Given the description of an element on the screen output the (x, y) to click on. 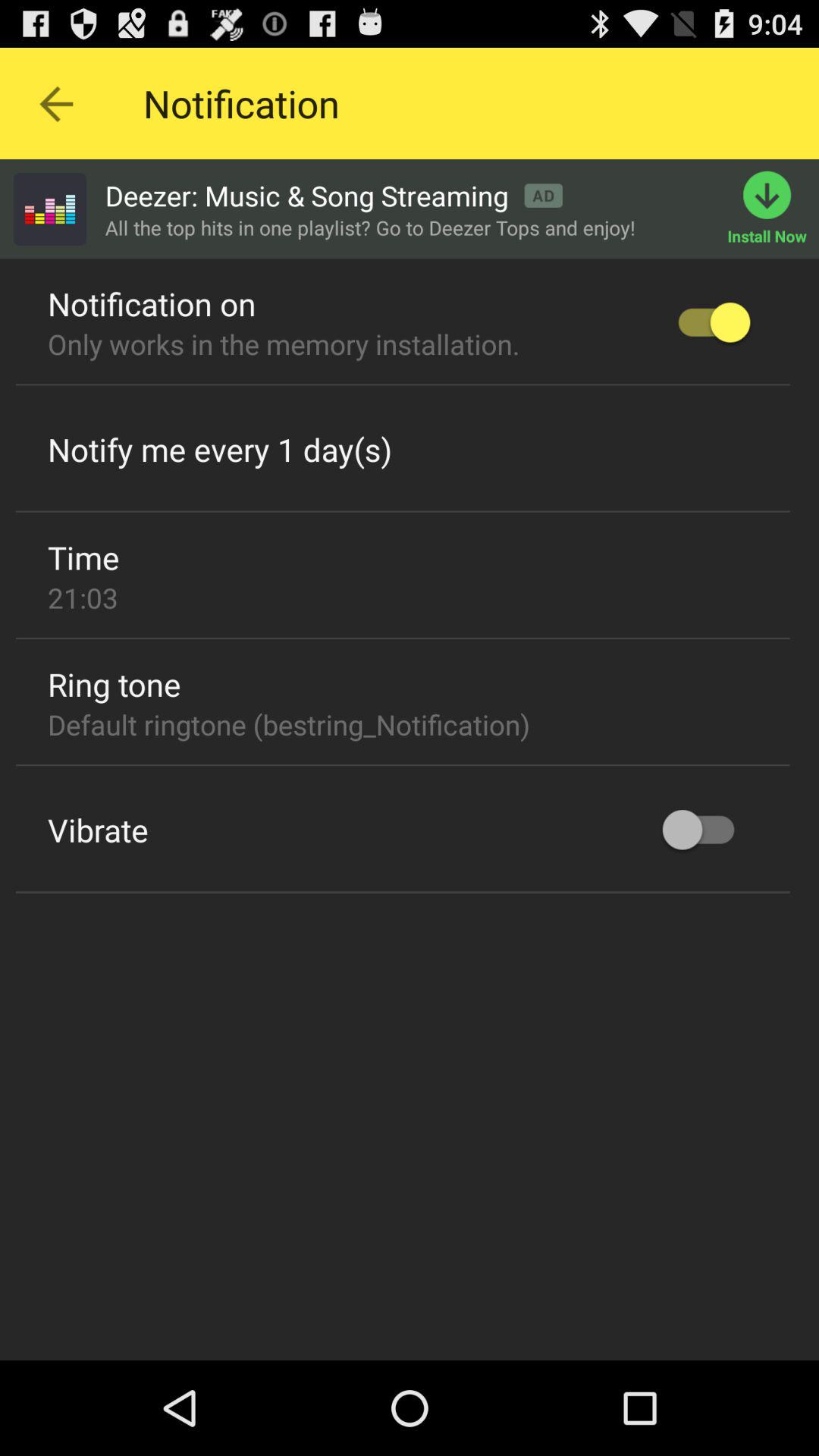
click app above the 21:03 (83, 556)
